Given the description of an element on the screen output the (x, y) to click on. 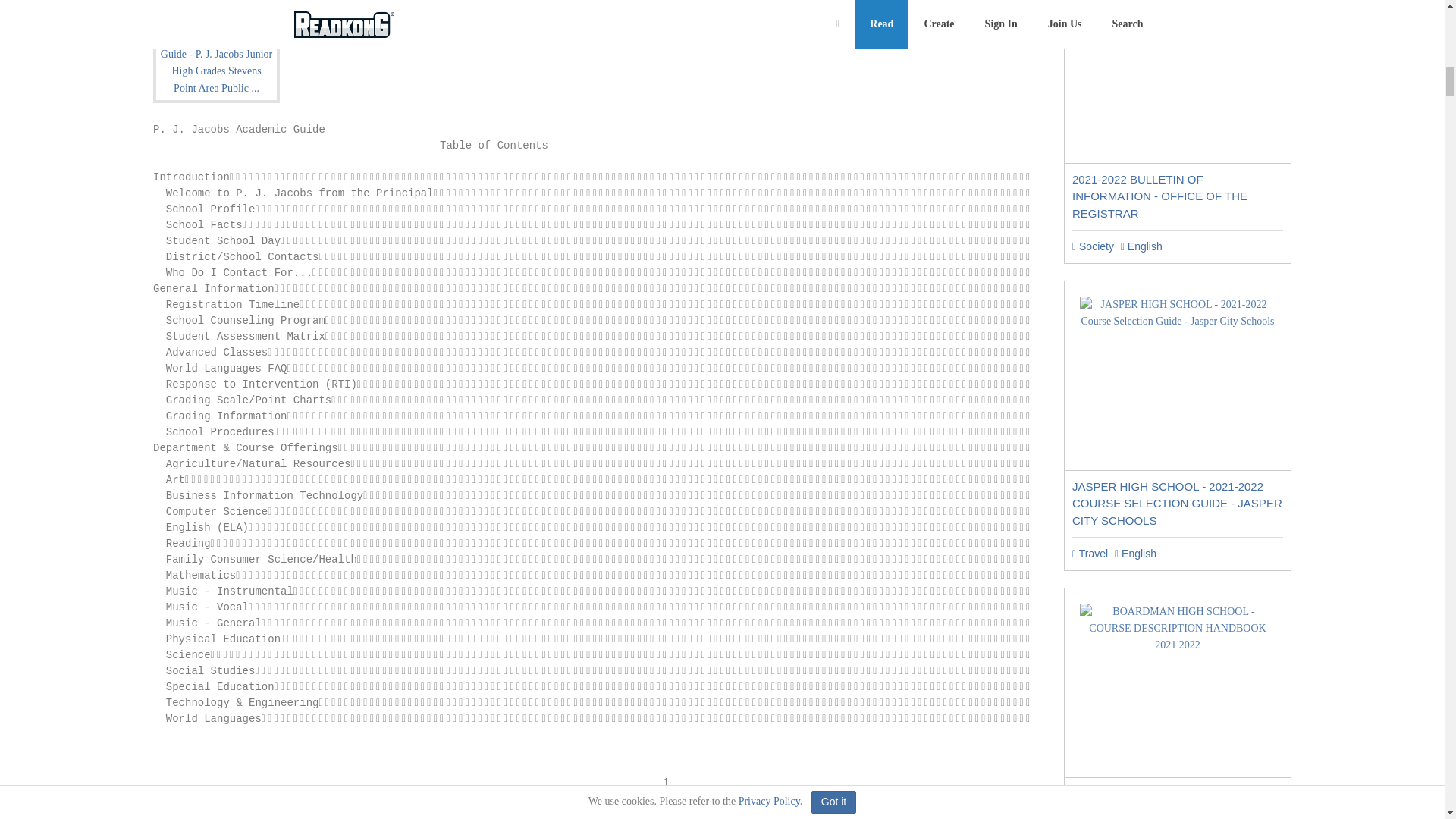
English (1141, 246)
Society (1092, 246)
2021-2022 BULLETIN OF INFORMATION - OFFICE OF THE REGISTRAR (1159, 196)
